Given the description of an element on the screen output the (x, y) to click on. 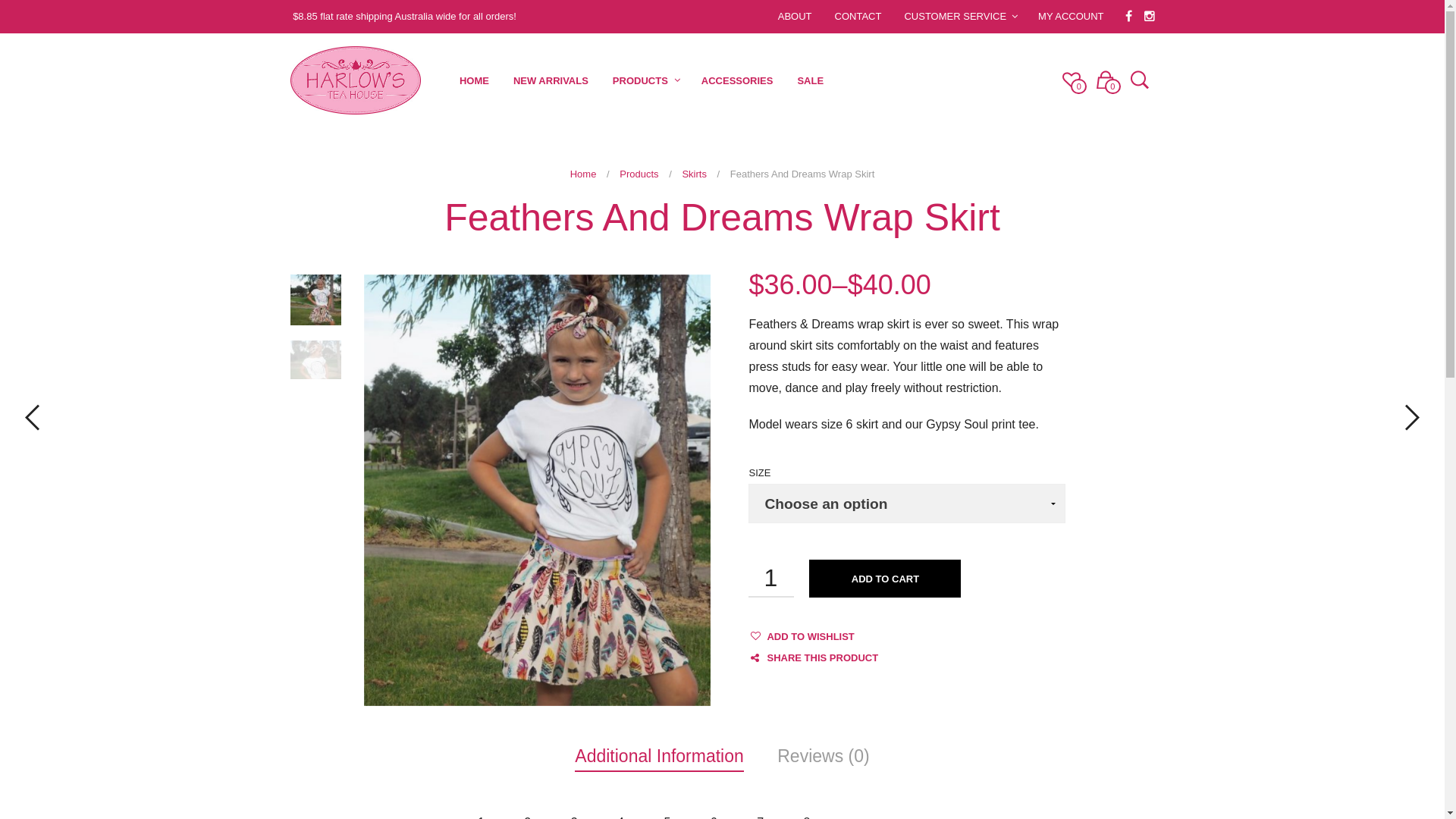
Products Element type: text (638, 173)
CONTACT Element type: text (858, 16)
Unique handmade clothing for your little treasure Element type: hover (354, 80)
SHARE THIS PRODUCT Element type: text (813, 657)
Qty Element type: hover (770, 578)
ADD TO CART Element type: text (884, 578)
Search Element type: text (1144, 80)
45624469_1927150217404007_3823378830337245184_o Element type: hover (314, 299)
CUSTOMER SERVICE Element type: text (954, 16)
Skirts Element type: text (693, 173)
PRODUCTS Element type: text (640, 80)
MY ACCOUNT Element type: text (1070, 16)
0 Element type: text (1104, 78)
0 Element type: text (1070, 78)
Reviews (0) Element type: text (823, 755)
ACCESSORIES Element type: text (737, 80)
SALE Element type: text (809, 80)
ABOUT Element type: text (794, 16)
ADD TO WISHLIST Element type: text (809, 636)
Additional Information Element type: text (658, 755)
Home Element type: text (583, 173)
NEW ARRIVALS Element type: text (550, 80)
HOME Element type: text (474, 80)
